Given the description of an element on the screen output the (x, y) to click on. 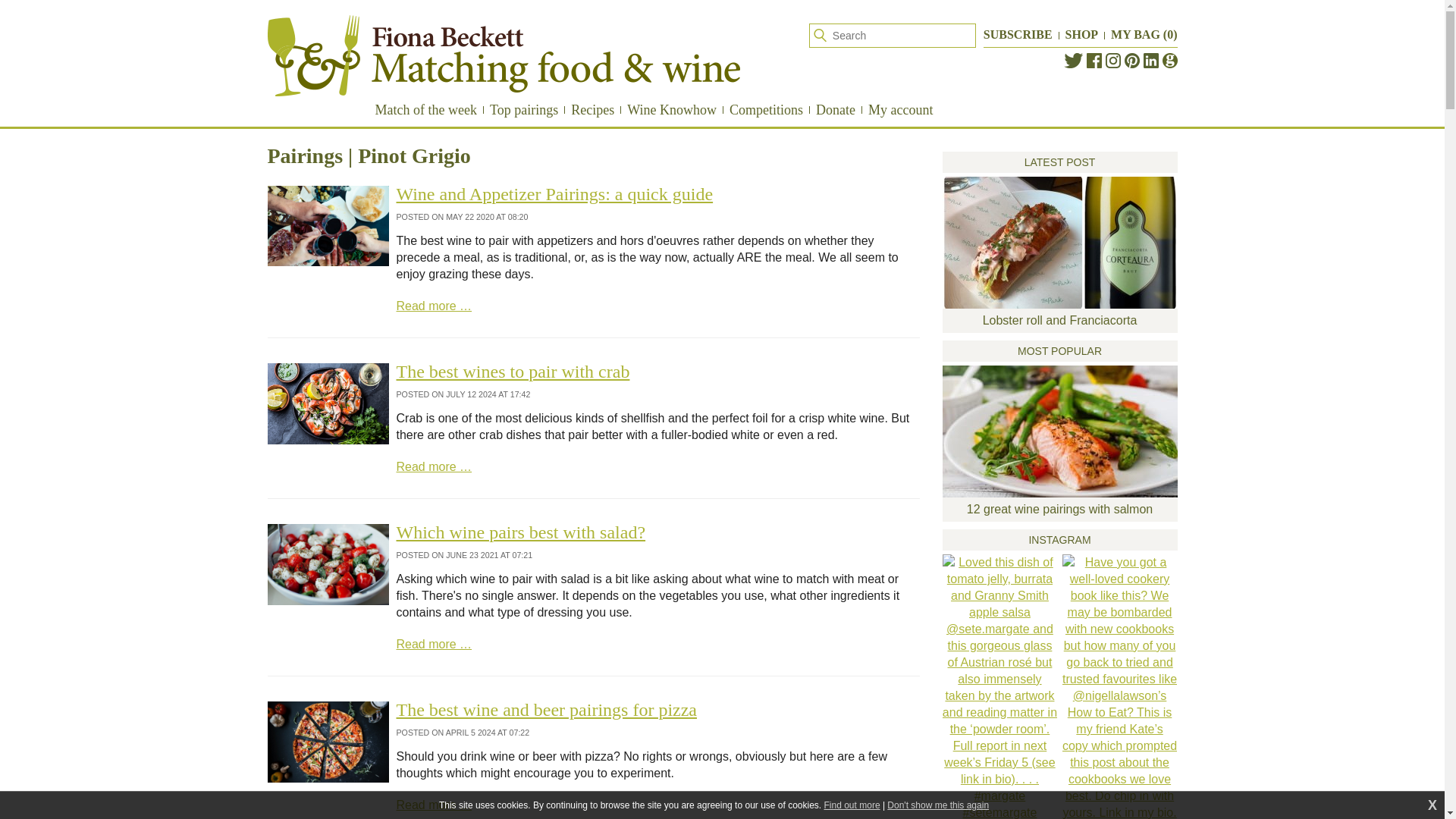
Recipes (592, 109)
Competitions (766, 109)
My account (900, 109)
Match of the week (425, 109)
SHOP (1082, 33)
Wine Knowhow (671, 109)
Donate (835, 109)
Top pairings (523, 109)
SUBSCRIBE (1018, 33)
Wine and Appetizer Pairings: a quick guide (554, 193)
